Given the description of an element on the screen output the (x, y) to click on. 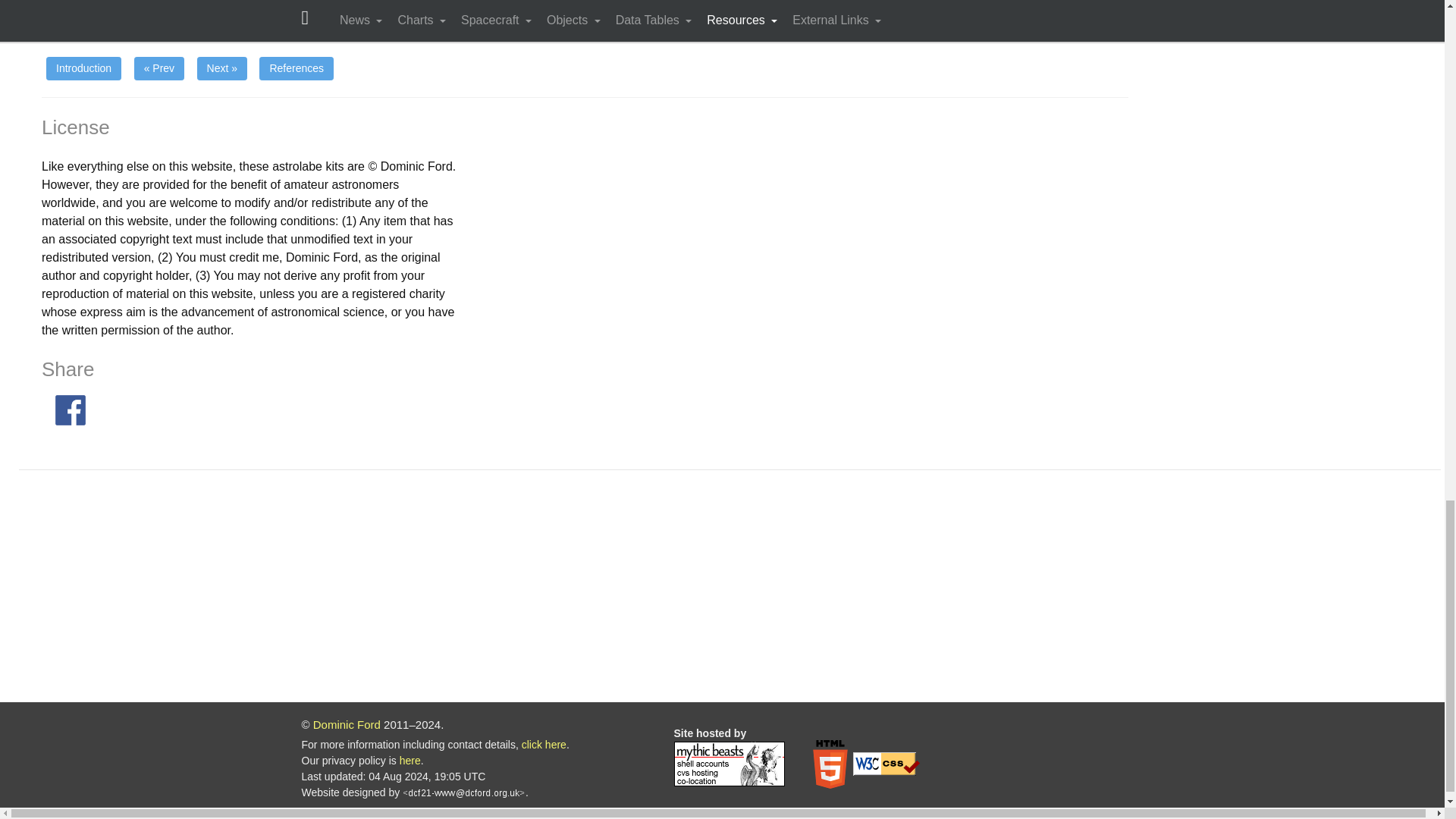
Introduction (83, 68)
References (296, 68)
